Given the description of an element on the screen output the (x, y) to click on. 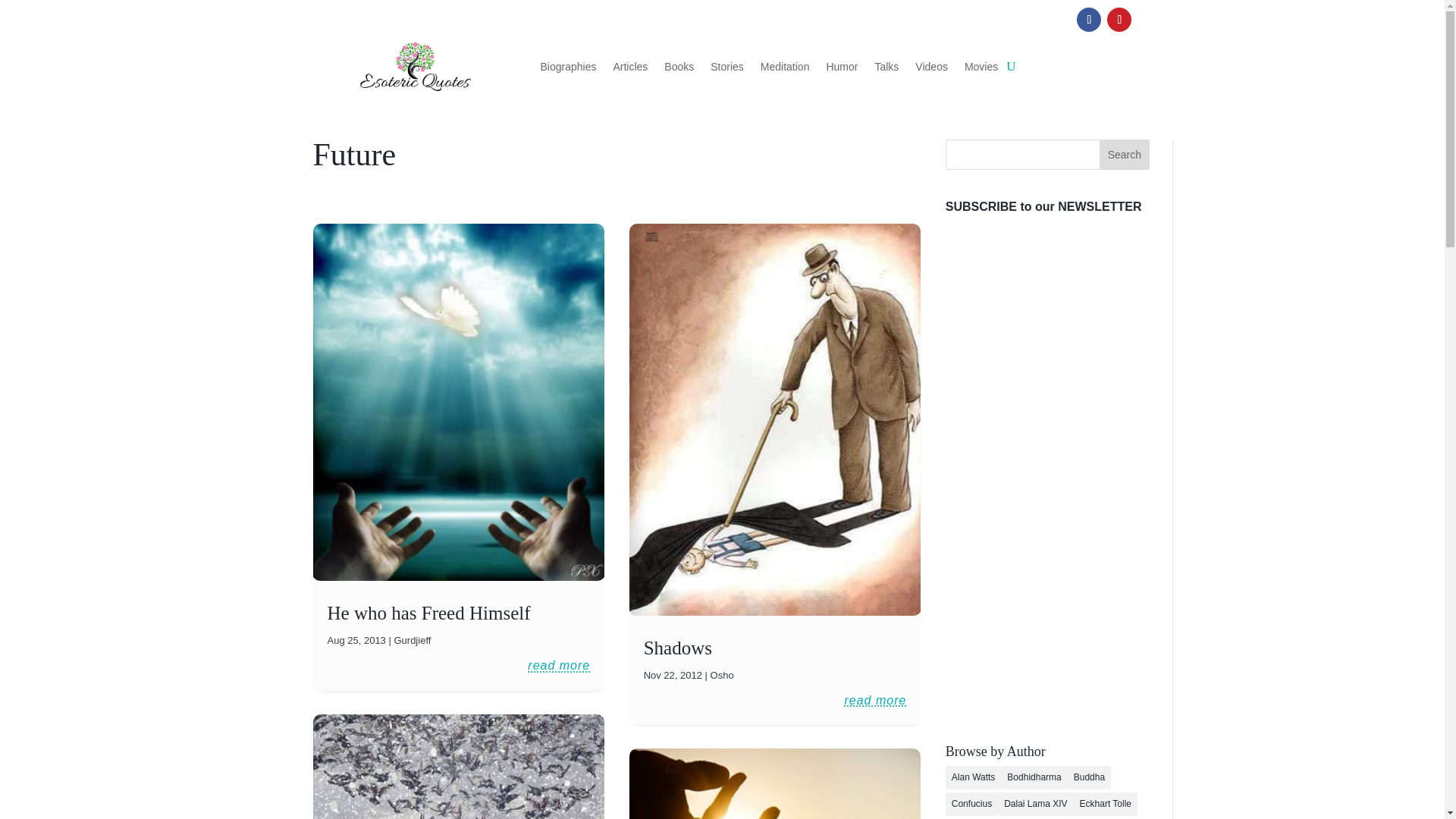
He who has Freed Himself (429, 612)
Follow on Facebook (1088, 19)
Follow on Pinterest (1118, 19)
Search (1124, 154)
Gurdjieff (411, 640)
Biographies (567, 66)
read more (558, 665)
